Given the description of an element on the screen output the (x, y) to click on. 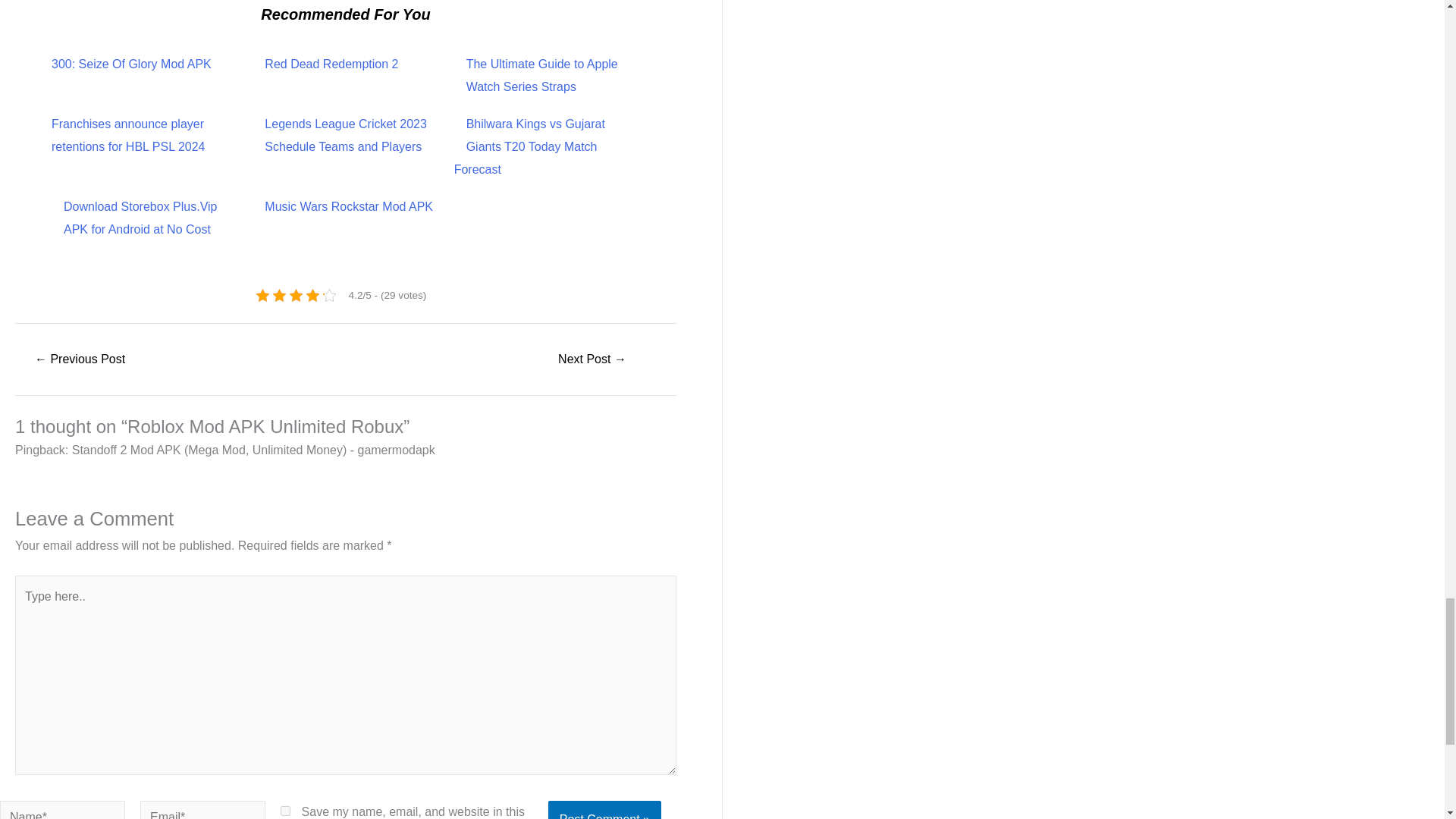
300: Seize Of Glory Mod APK (130, 63)
RTS APK (592, 358)
FIFA Mobile APK Mod (79, 358)
Red Dead Redemption 2 (330, 63)
yes (285, 810)
